Given the description of an element on the screen output the (x, y) to click on. 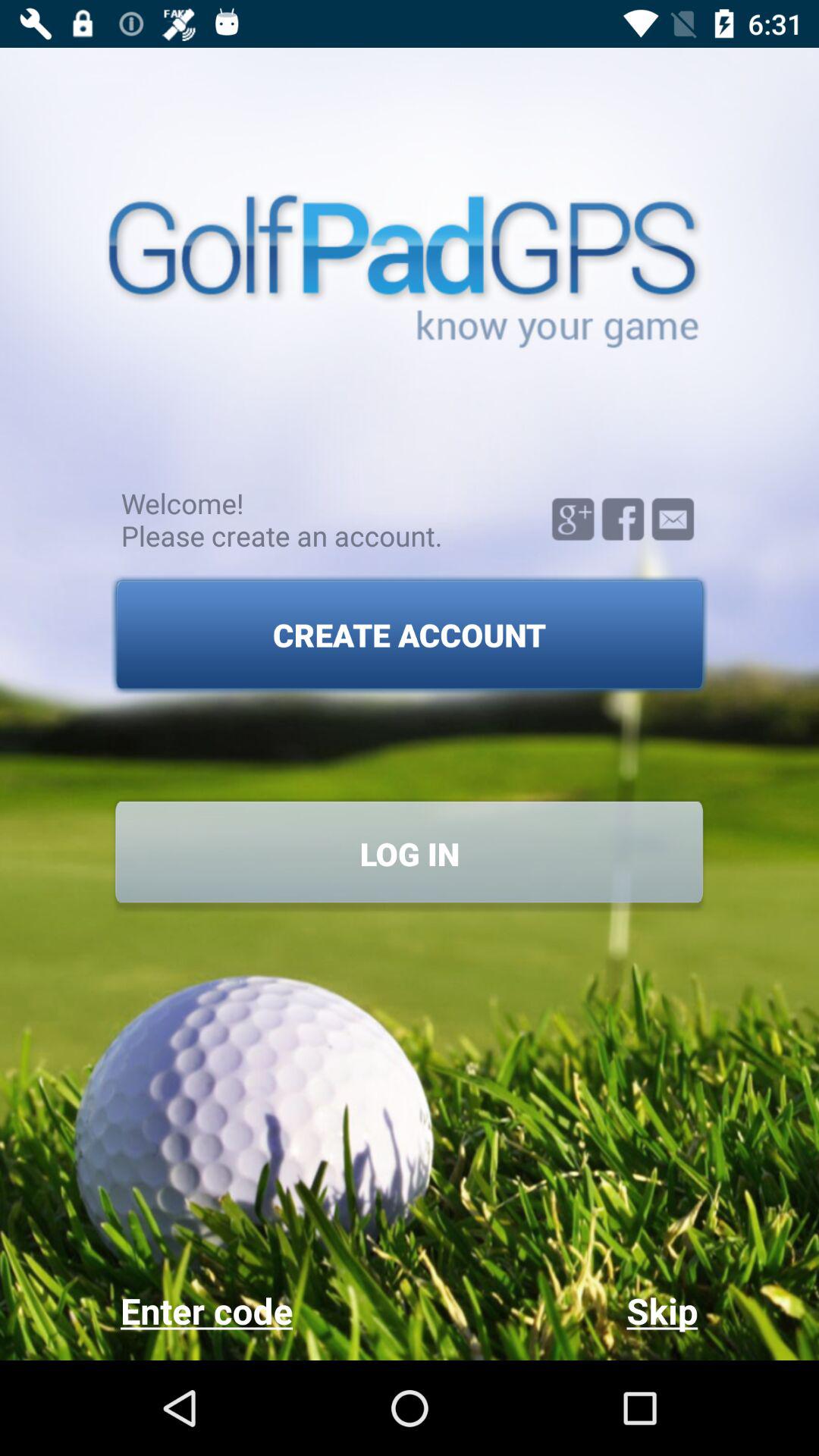
turn on item next to skip item (264, 1310)
